Given the description of an element on the screen output the (x, y) to click on. 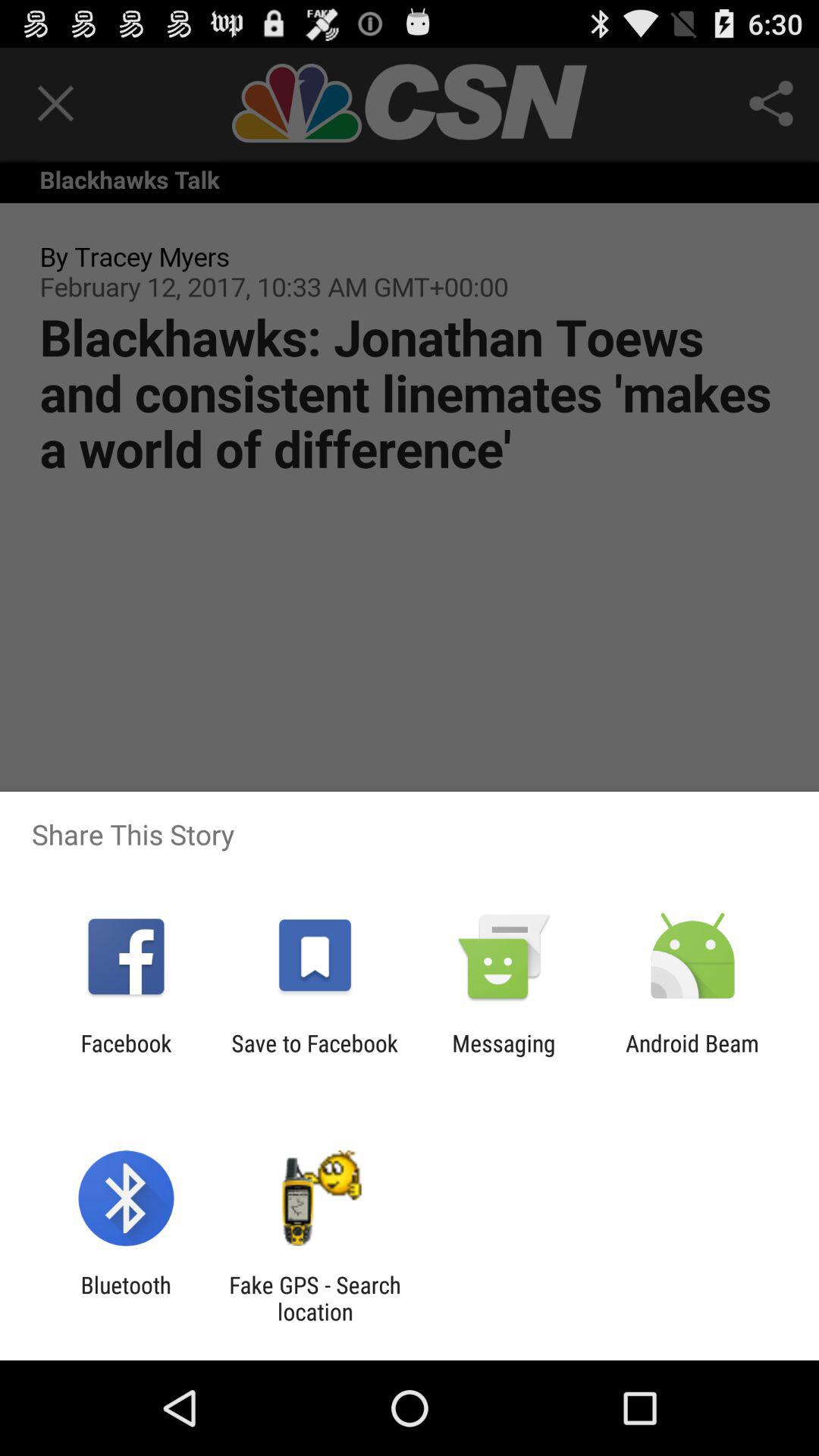
scroll to the fake gps search icon (314, 1298)
